Given the description of an element on the screen output the (x, y) to click on. 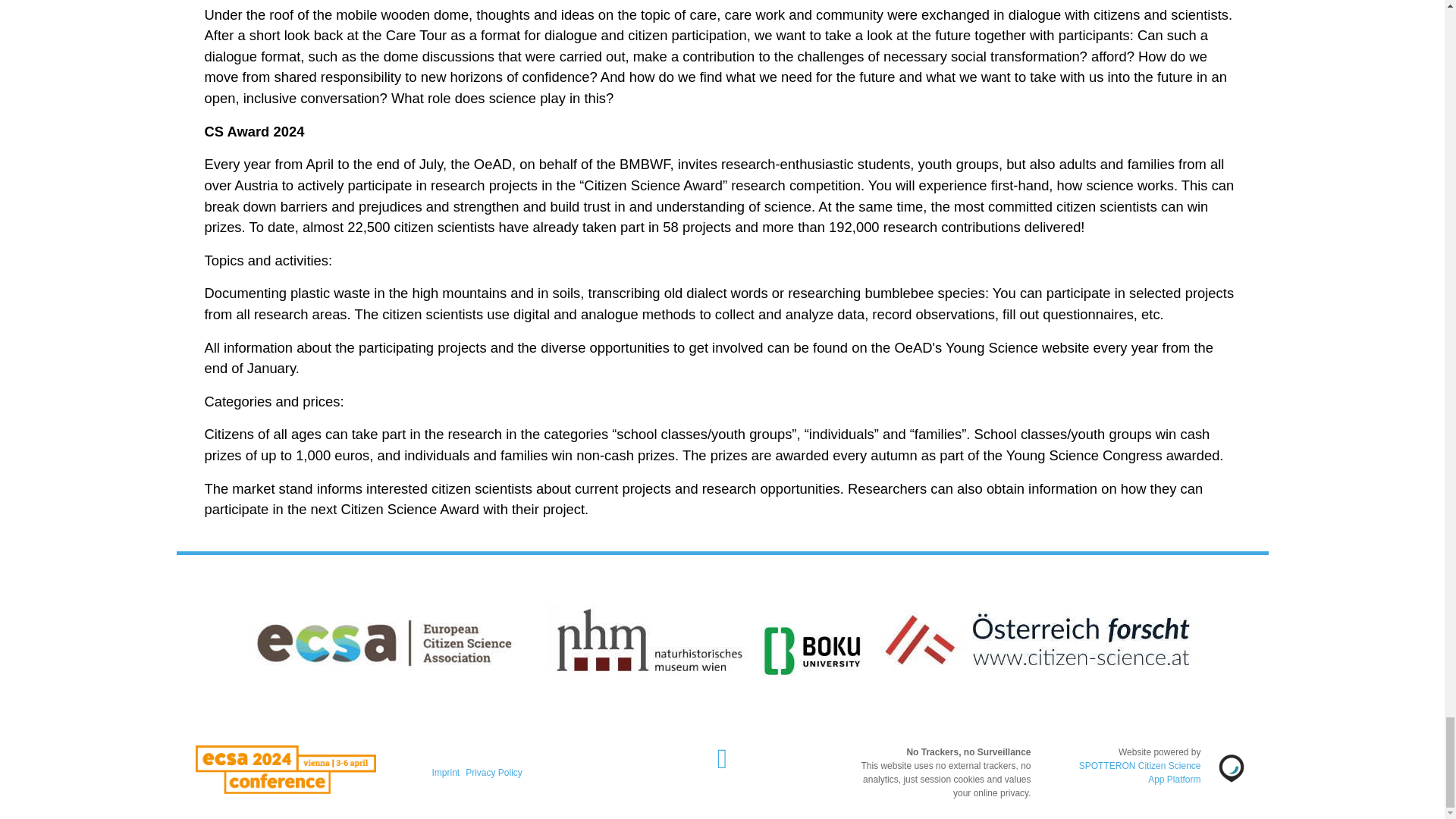
Imprint (446, 772)
SPOTTERON Citizen Science App Platform (1139, 772)
Privacy Policy (493, 772)
SPOTTERON Citizen Science App Platform (1139, 772)
